Given the description of an element on the screen output the (x, y) to click on. 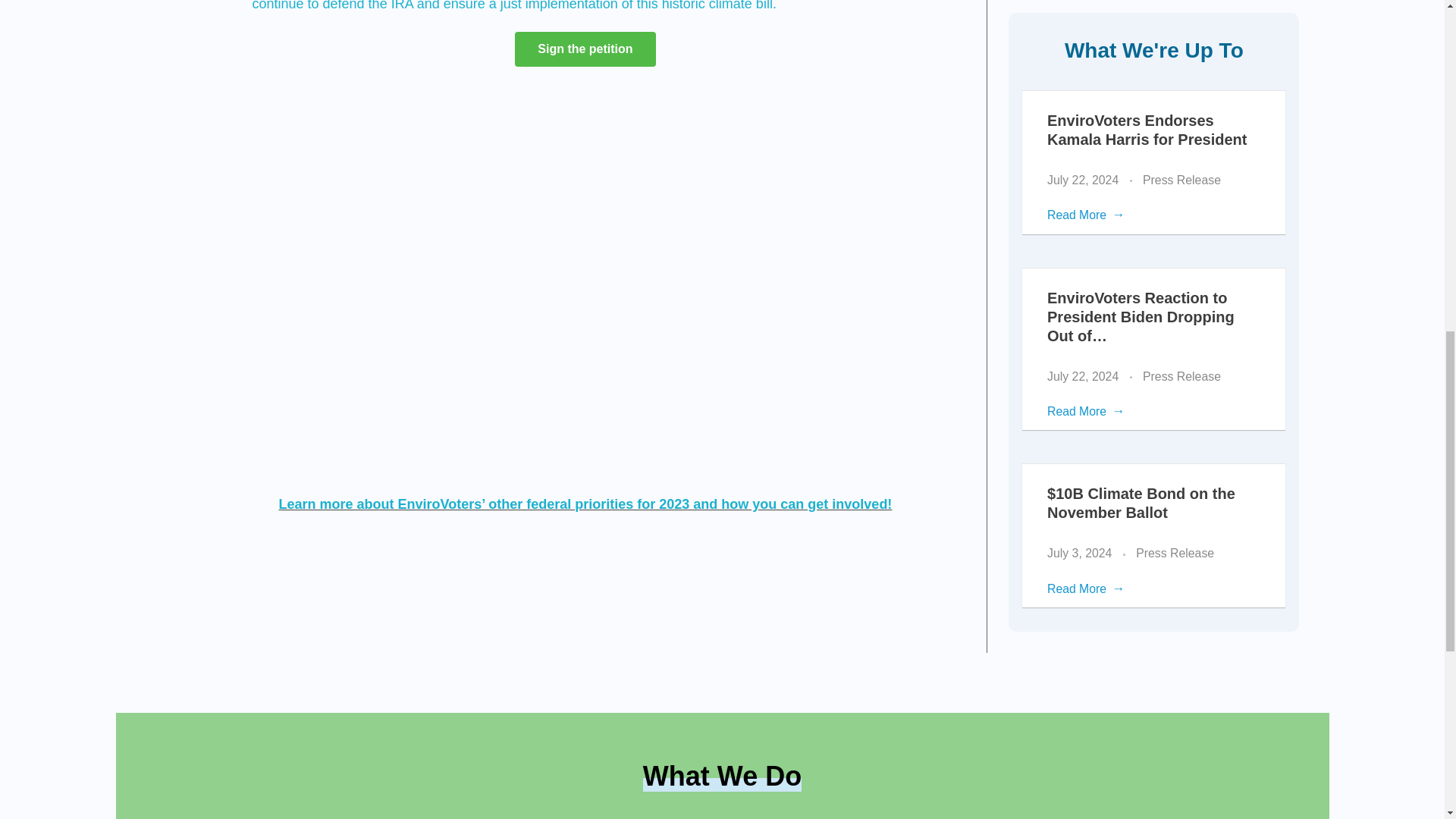
2024-07-22T11:52:32-07:00 (1082, 376)
2024-07-03T19:13:11-07:00 (1079, 553)
View all posts in Press Release (1181, 180)
View all posts in Press Release (1174, 553)
2024-07-22T16:57:15-07:00 (1082, 179)
View all posts in Press Release (1181, 375)
